Given the description of an element on the screen output the (x, y) to click on. 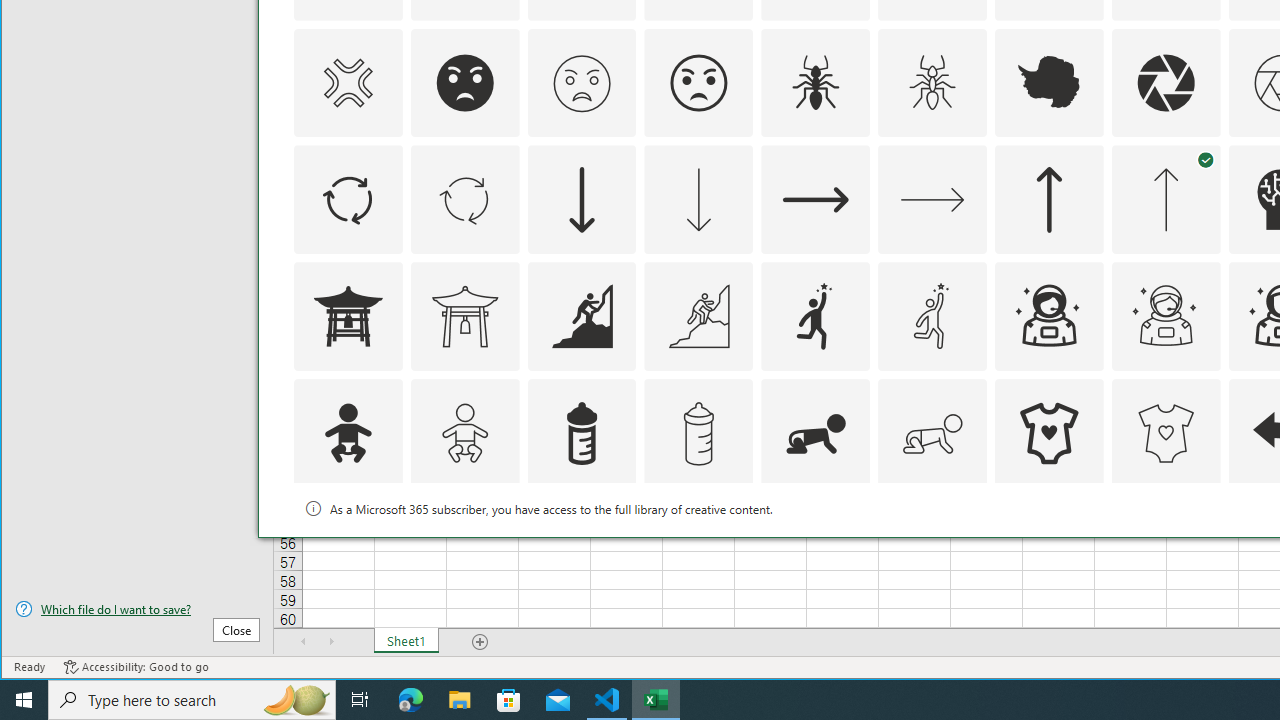
AutomationID: Icons_AngerSymbol_M (348, 82)
Thumbnail (1205, 511)
AutomationID: Icons_ArrowUp_M (1165, 200)
AutomationID: Icons_Ant (815, 82)
AutomationID: Icons_Badge5 (1165, 550)
AutomationID: Icons_AsianTemple1_M (464, 316)
AutomationID: Icons_Badge3 (698, 550)
